Given the description of an element on the screen output the (x, y) to click on. 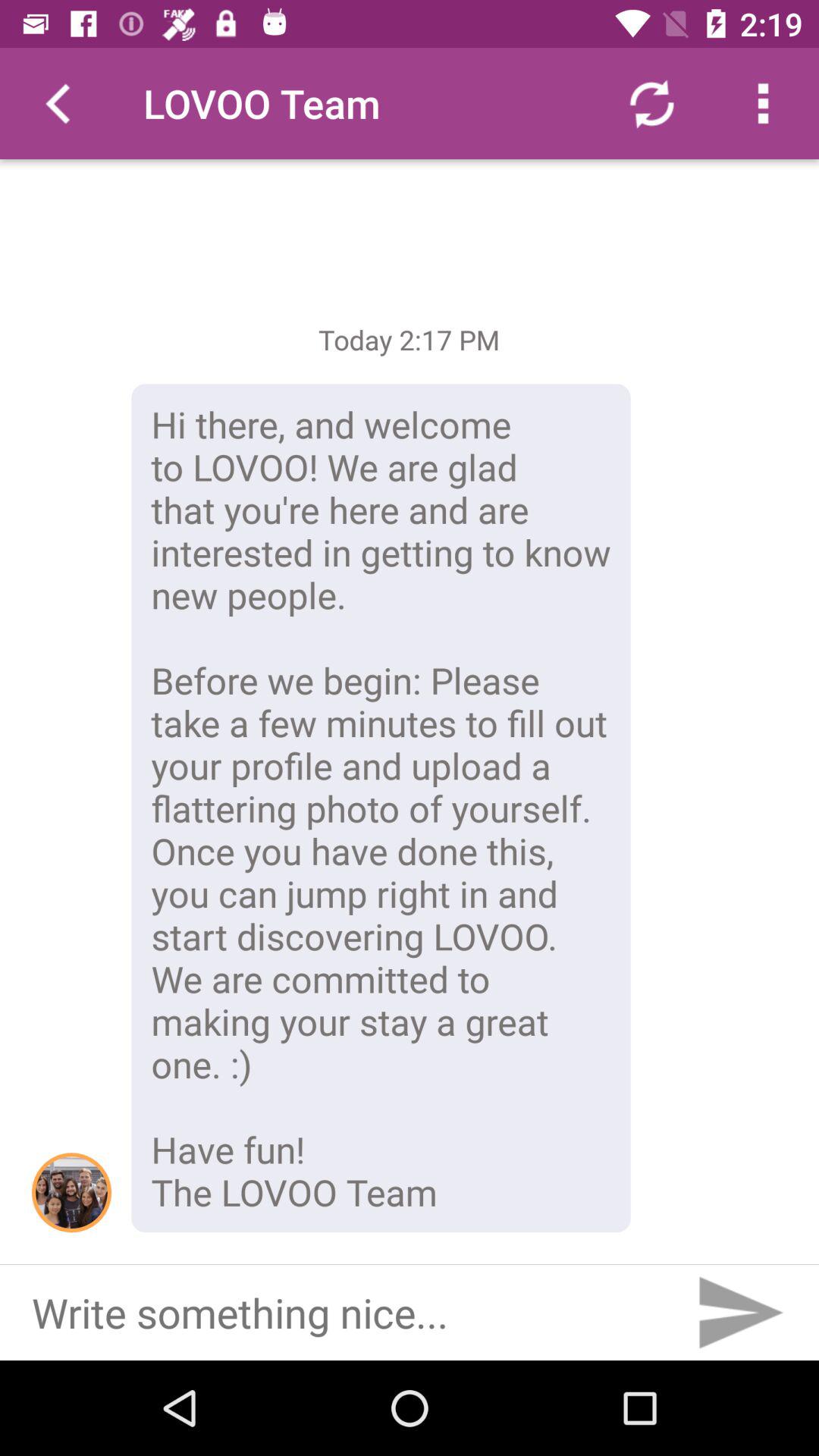
launch the icon next to lovoo team item (55, 103)
